Given the description of an element on the screen output the (x, y) to click on. 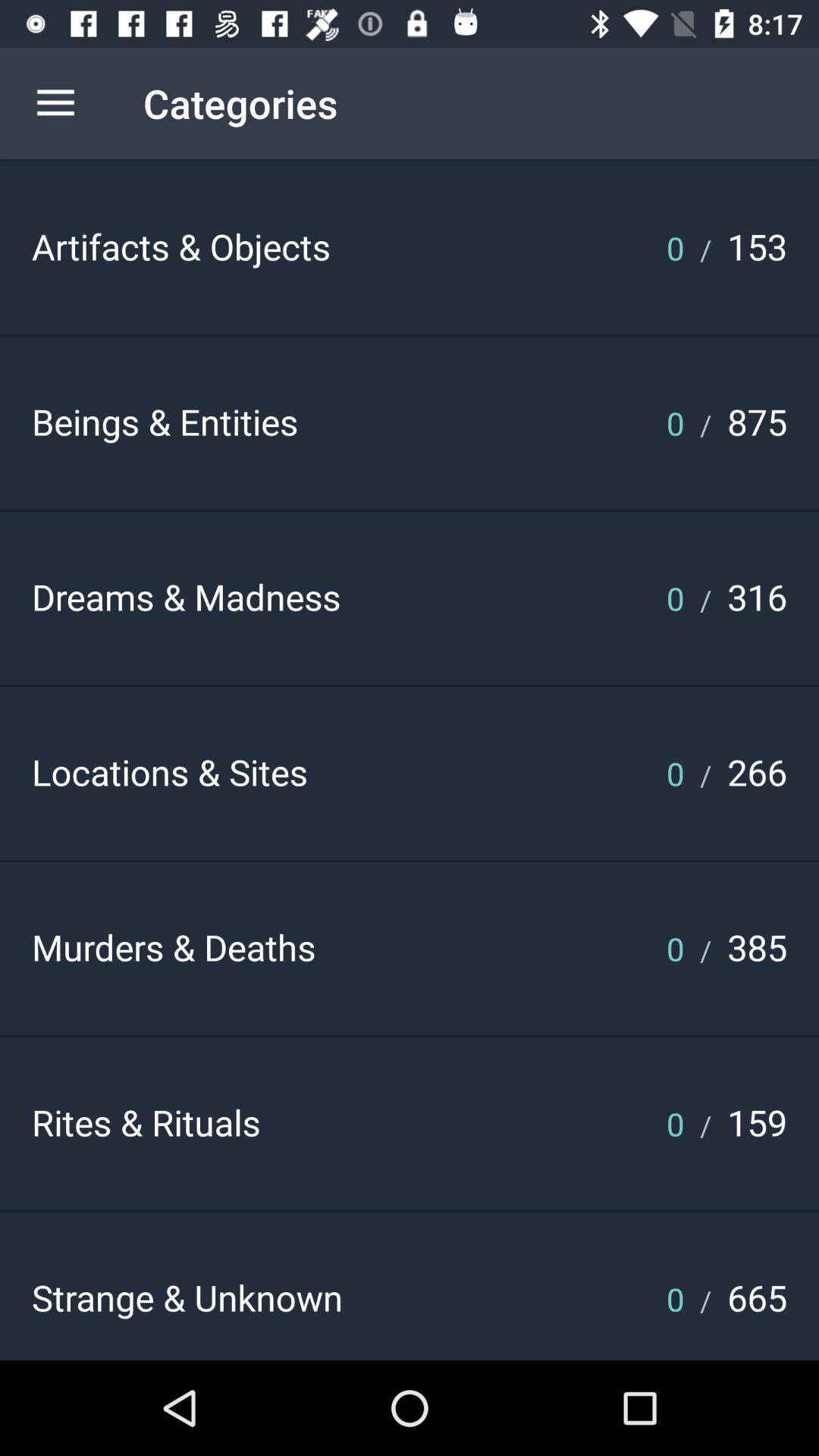
turn off item to the left of categories item (55, 103)
